Given the description of an element on the screen output the (x, y) to click on. 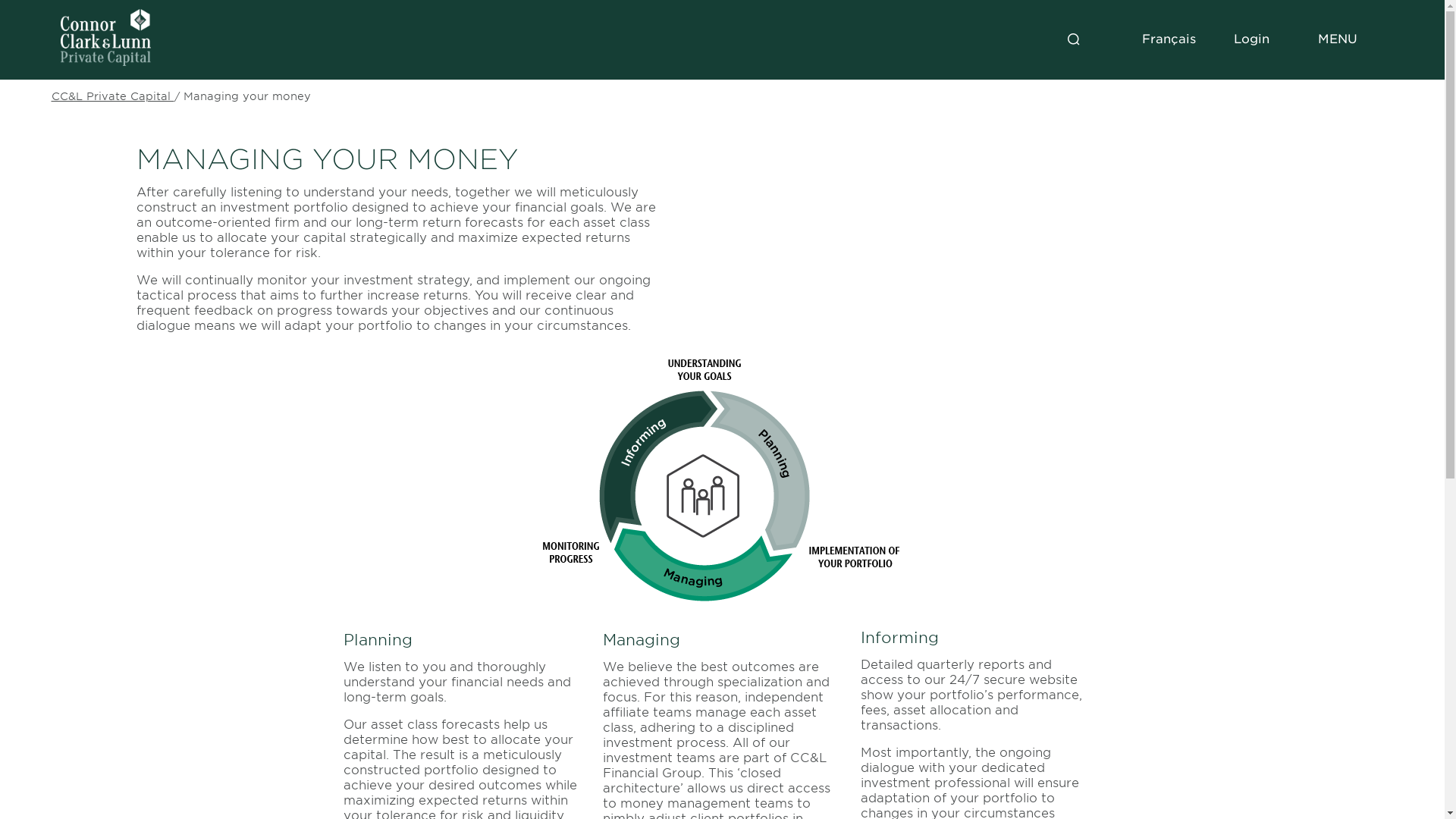
CC&L Private Capital Element type: text (112, 96)
CC&L Private Capital logo_colour_reverse_English_PNG Element type: hover (105, 37)
MENU Element type: text (1337, 38)
Login Element type: text (1250, 38)
